Given the description of an element on the screen output the (x, y) to click on. 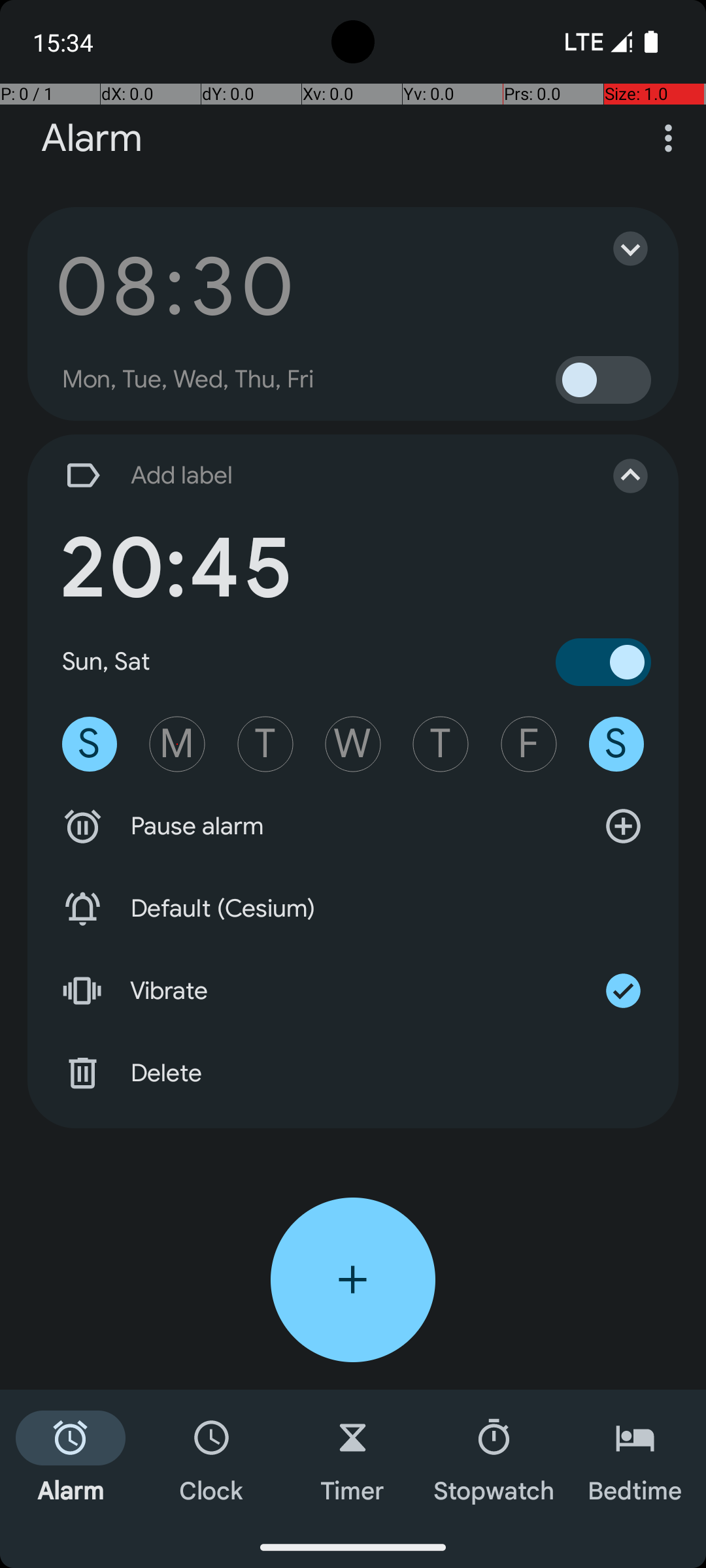
Add alarm Element type: android.widget.Button (352, 1279)
08:30 Element type: android.widget.TextView (174, 286)
Expand alarm Element type: android.widget.ImageButton (616, 248)
Mon, Tue, Wed, Thu, Fri Element type: android.widget.TextView (187, 379)
Add label Element type: android.widget.TextView (318, 475)
Collapse alarm Element type: android.widget.ImageButton (616, 475)
20:45 Element type: android.widget.TextView (174, 568)
Sun, Sat Element type: android.widget.TextView (106, 661)
S Element type: android.widget.CheckBox (89, 743)
M Element type: android.widget.CheckBox (176, 743)
T Element type: android.widget.CheckBox (265, 743)
W Element type: android.widget.CheckBox (352, 743)
F Element type: android.widget.CheckBox (528, 743)
Pause alarm Element type: android.widget.TextView (352, 826)
Default (Cesium) Element type: android.widget.TextView (352, 908)
Vibrate Element type: android.widget.CheckBox (352, 990)
